Given the description of an element on the screen output the (x, y) to click on. 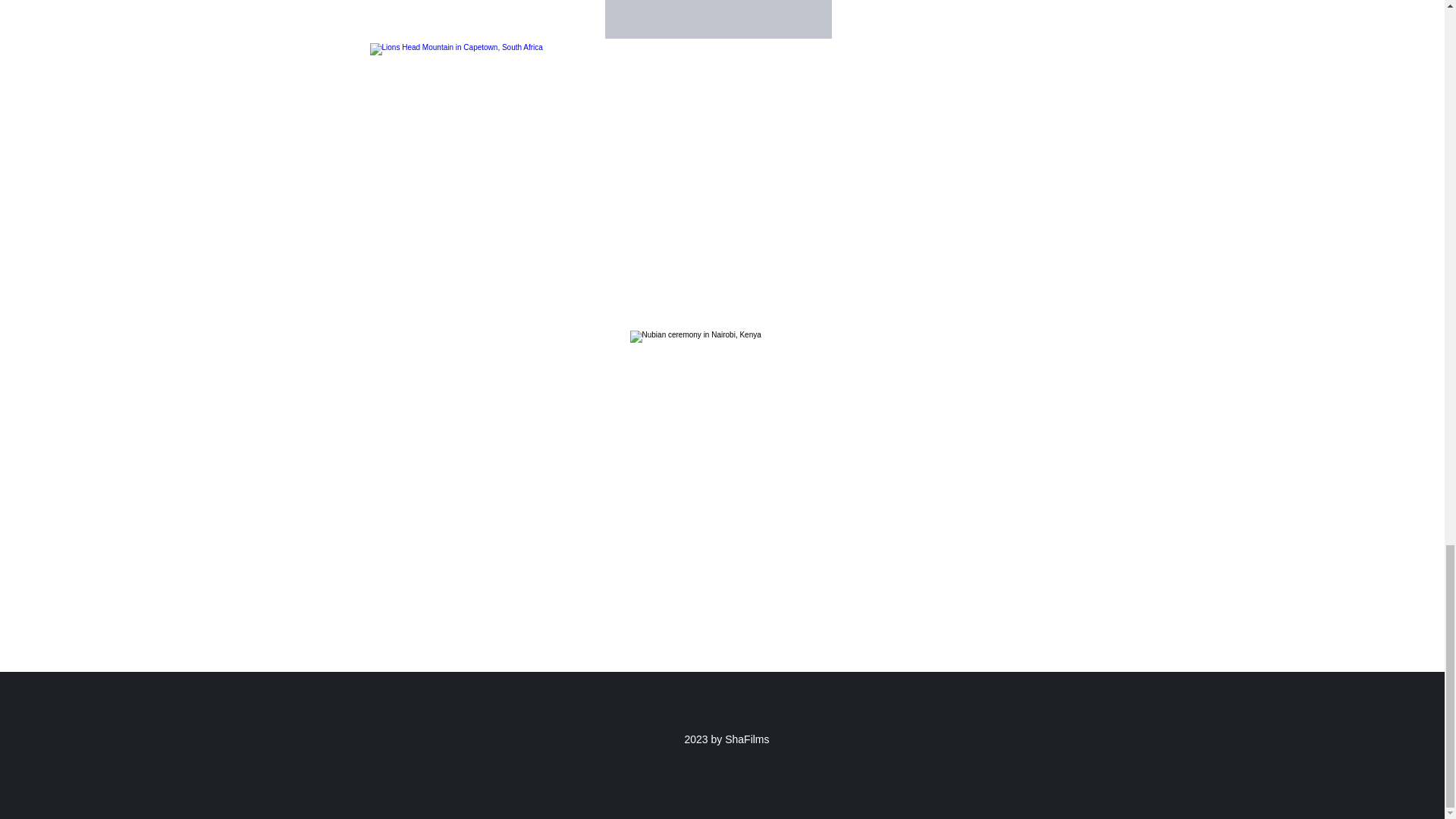
Capetown, South Africa (558, 183)
Capetown, Sout Africa (955, 128)
